Given the description of an element on the screen output the (x, y) to click on. 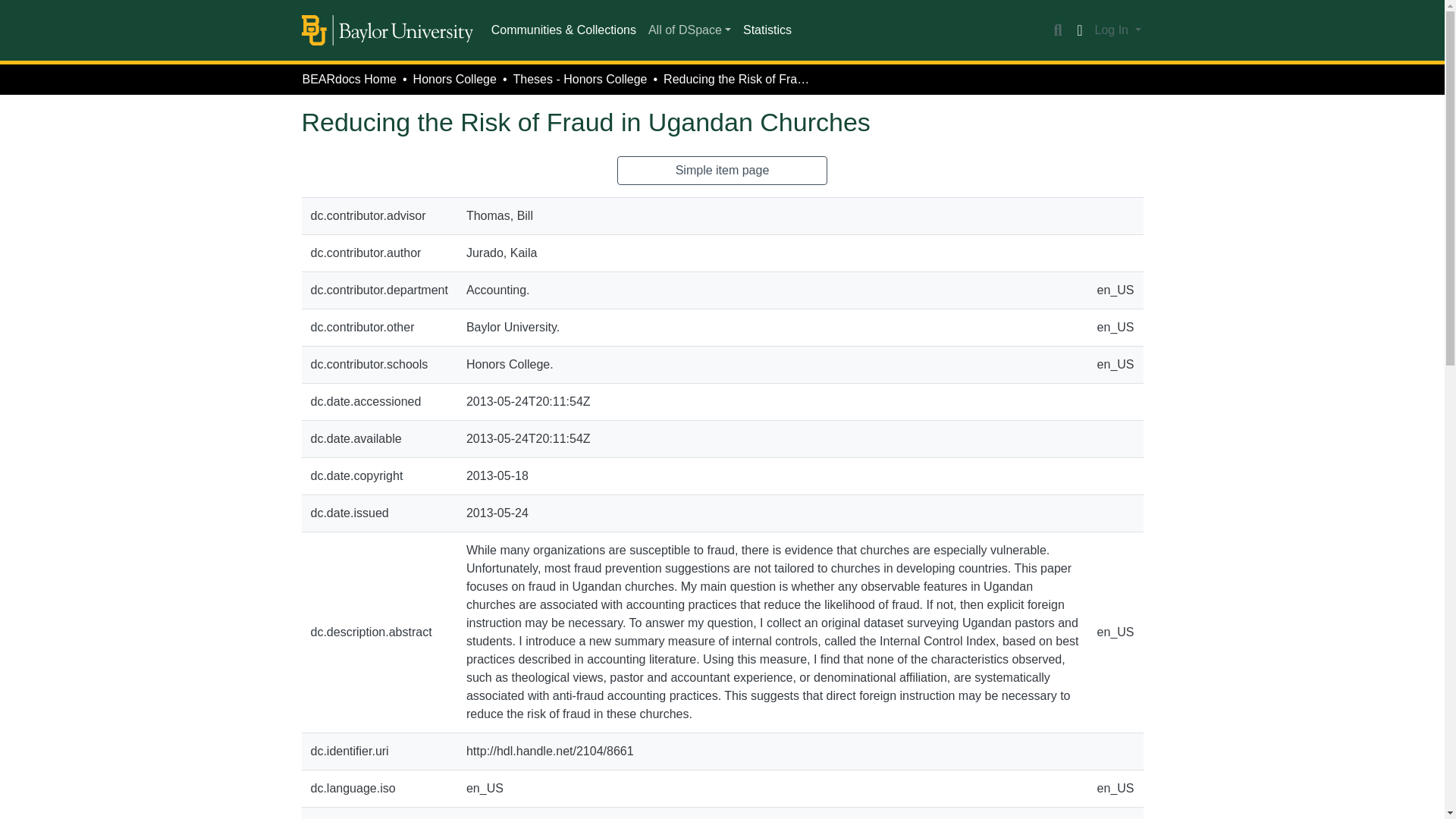
Honors College (454, 79)
All of DSpace (689, 30)
Language switch (1079, 30)
Simple item page (722, 170)
Theses - Honors College (579, 79)
Log In (1117, 30)
BEARdocs Home (348, 79)
Search (1057, 30)
Statistics (766, 30)
Statistics (766, 30)
